Given the description of an element on the screen output the (x, y) to click on. 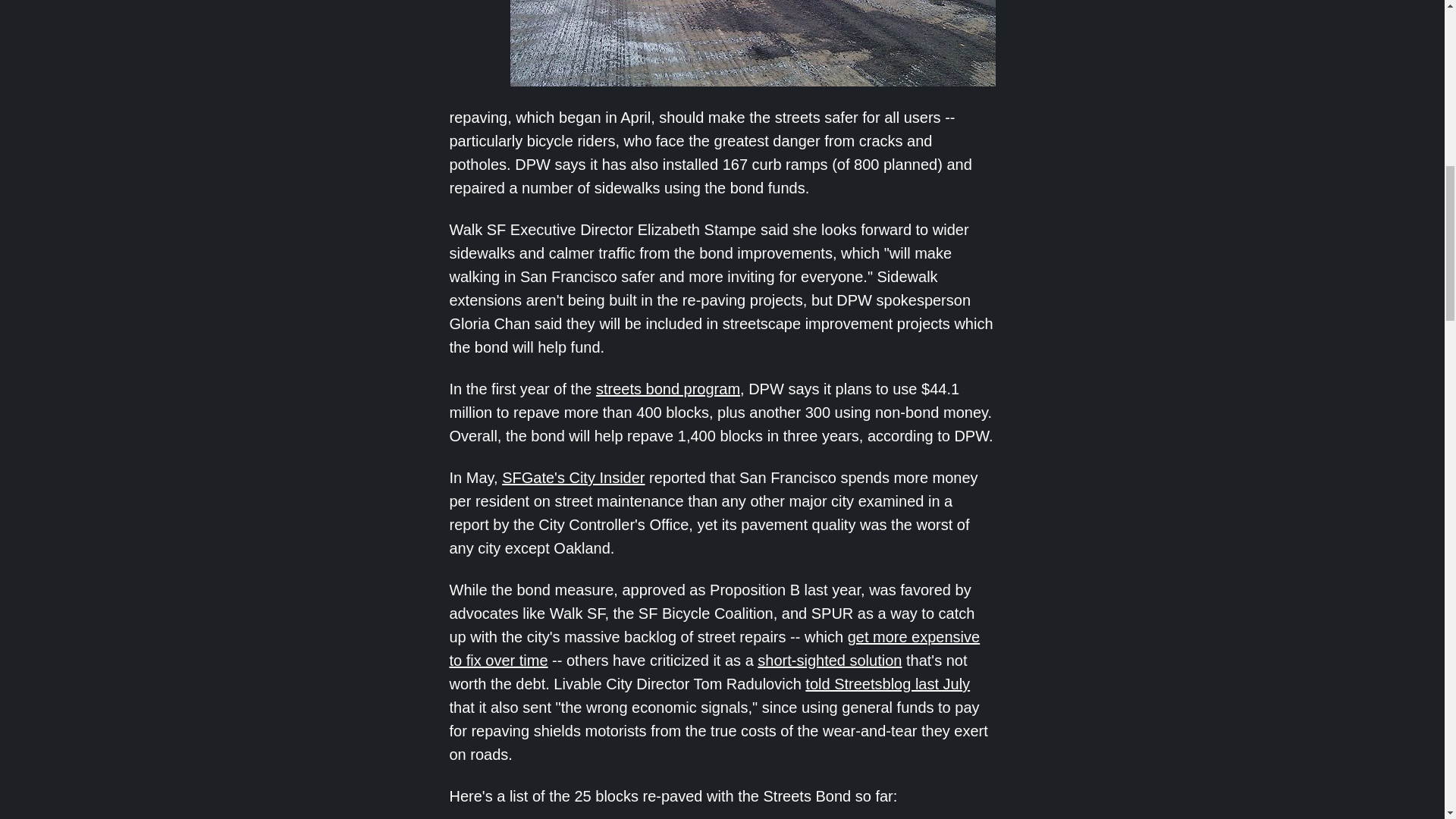
get more expensive to fix over time (713, 648)
streets bond program (667, 388)
SFGate's City Insider (573, 477)
told Streetsblog last July (887, 683)
short-sighted solution (829, 660)
